Given the description of an element on the screen output the (x, y) to click on. 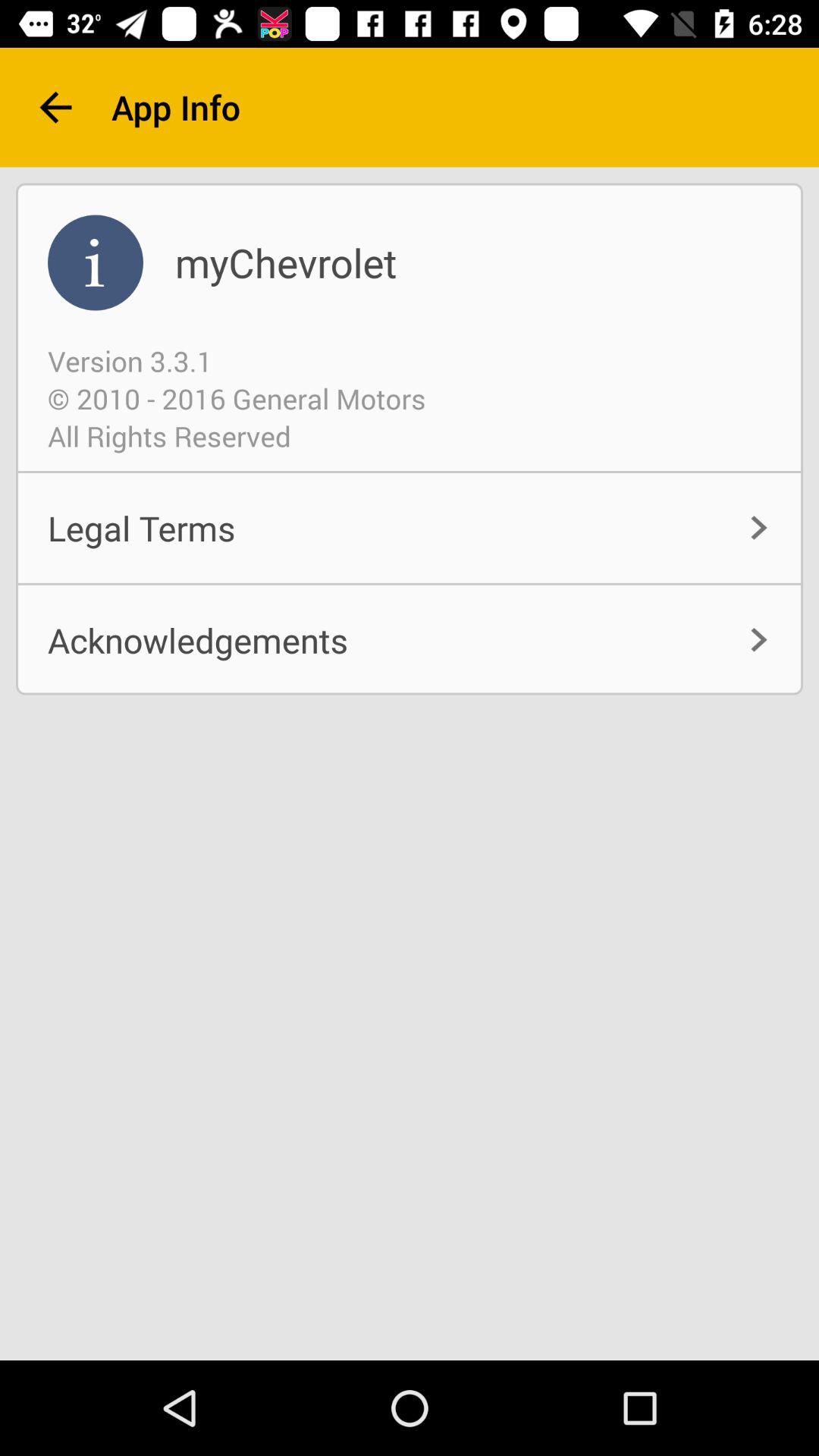
open icon to the left of the app info (55, 107)
